Given the description of an element on the screen output the (x, y) to click on. 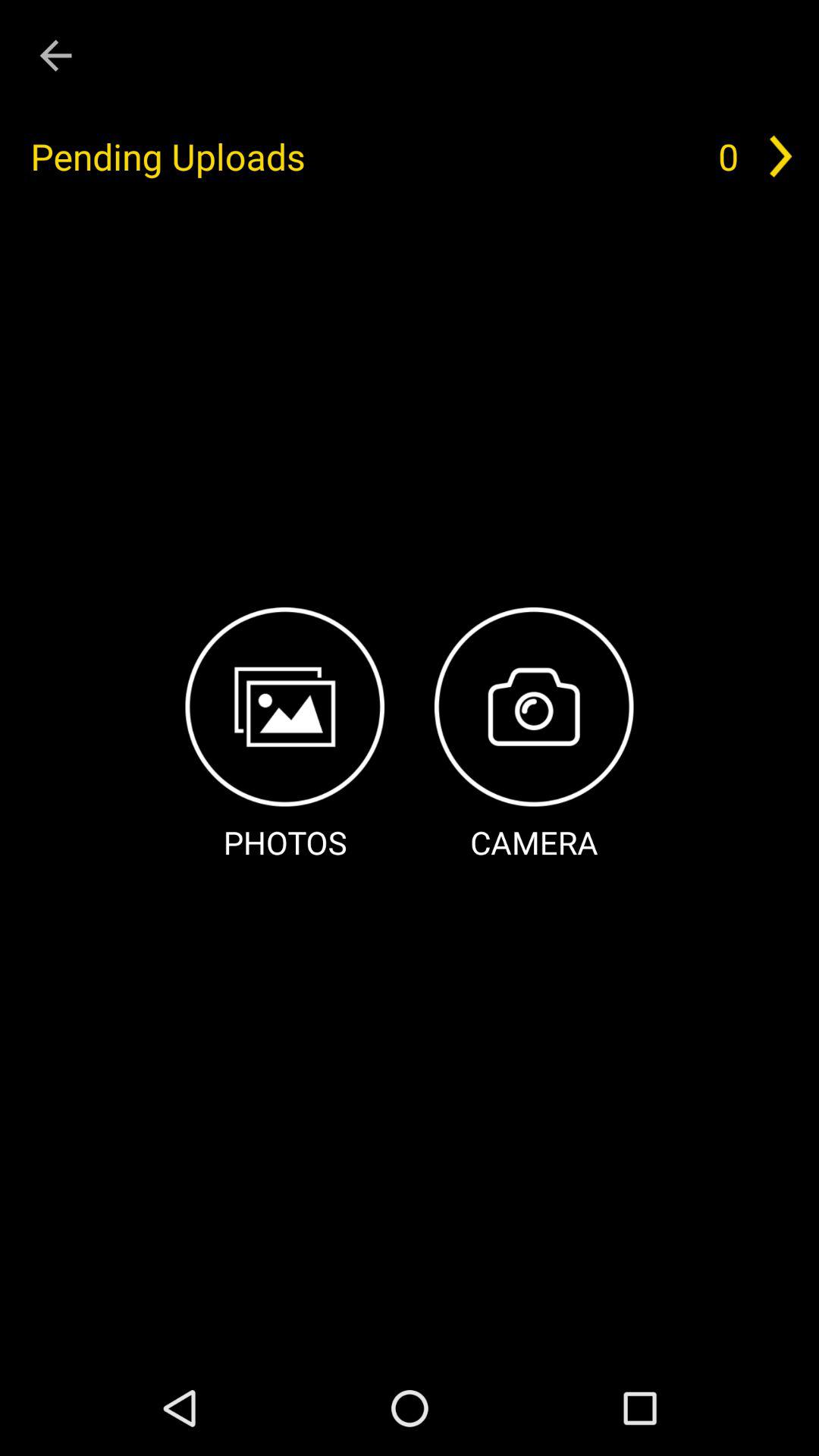
open the icon to the right of pending uploads (728, 155)
